Given the description of an element on the screen output the (x, y) to click on. 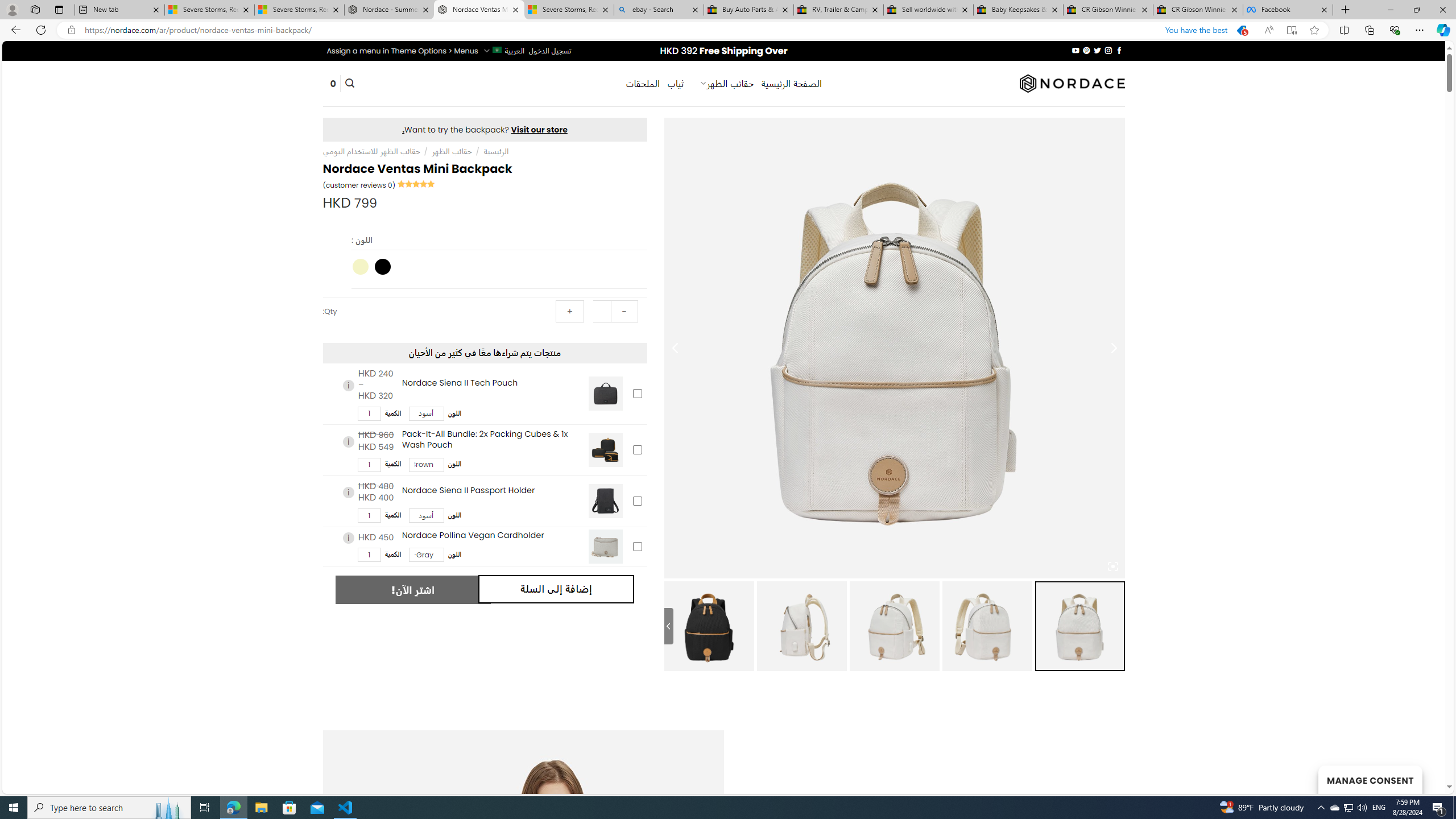
Class: iconic-woothumbs-fullscreen (1113, 566)
Assign a menu in Theme Options > Menus (402, 50)
Nordace Ventas Mini Backpack (708, 625)
Add this product to cart (636, 546)
Nordace Siena II Passport Holder (605, 501)
